Given the description of an element on the screen output the (x, y) to click on. 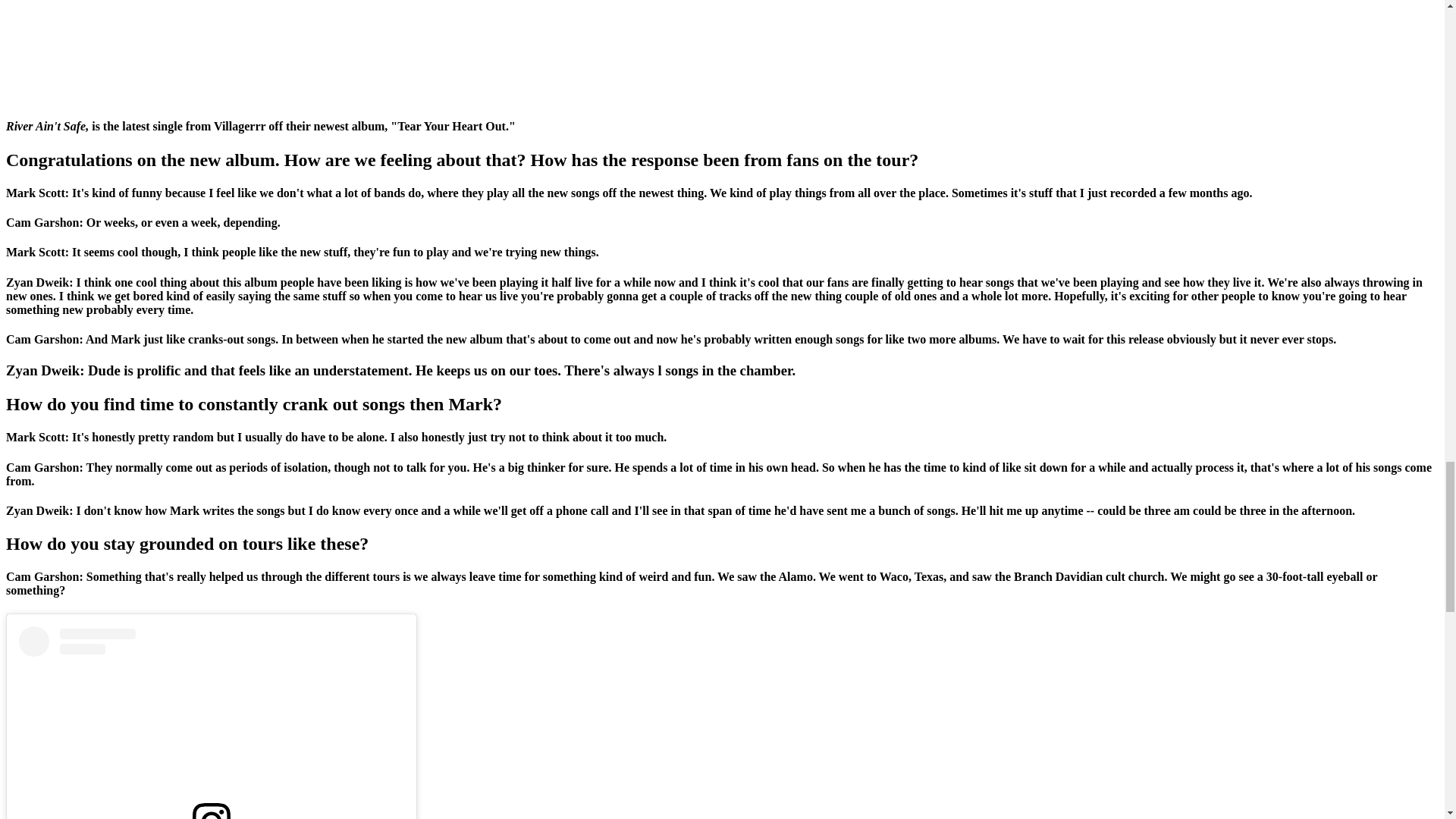
View this post on Instagram (211, 722)
